Given the description of an element on the screen output the (x, y) to click on. 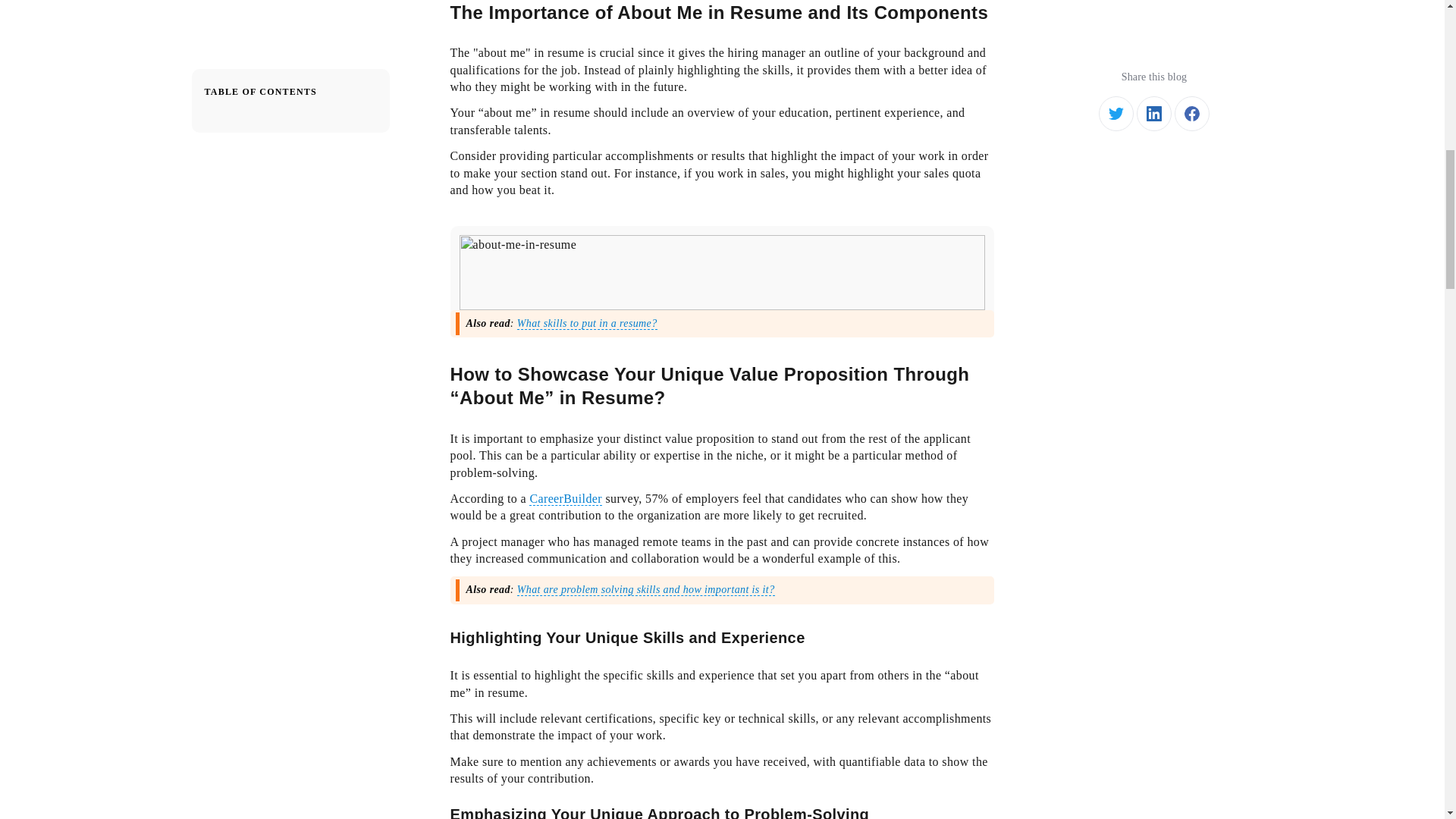
What skills to put in a resume? (587, 323)
What are problem solving skills and how important is it? (645, 589)
CareerBuilder (565, 499)
